Given the description of an element on the screen output the (x, y) to click on. 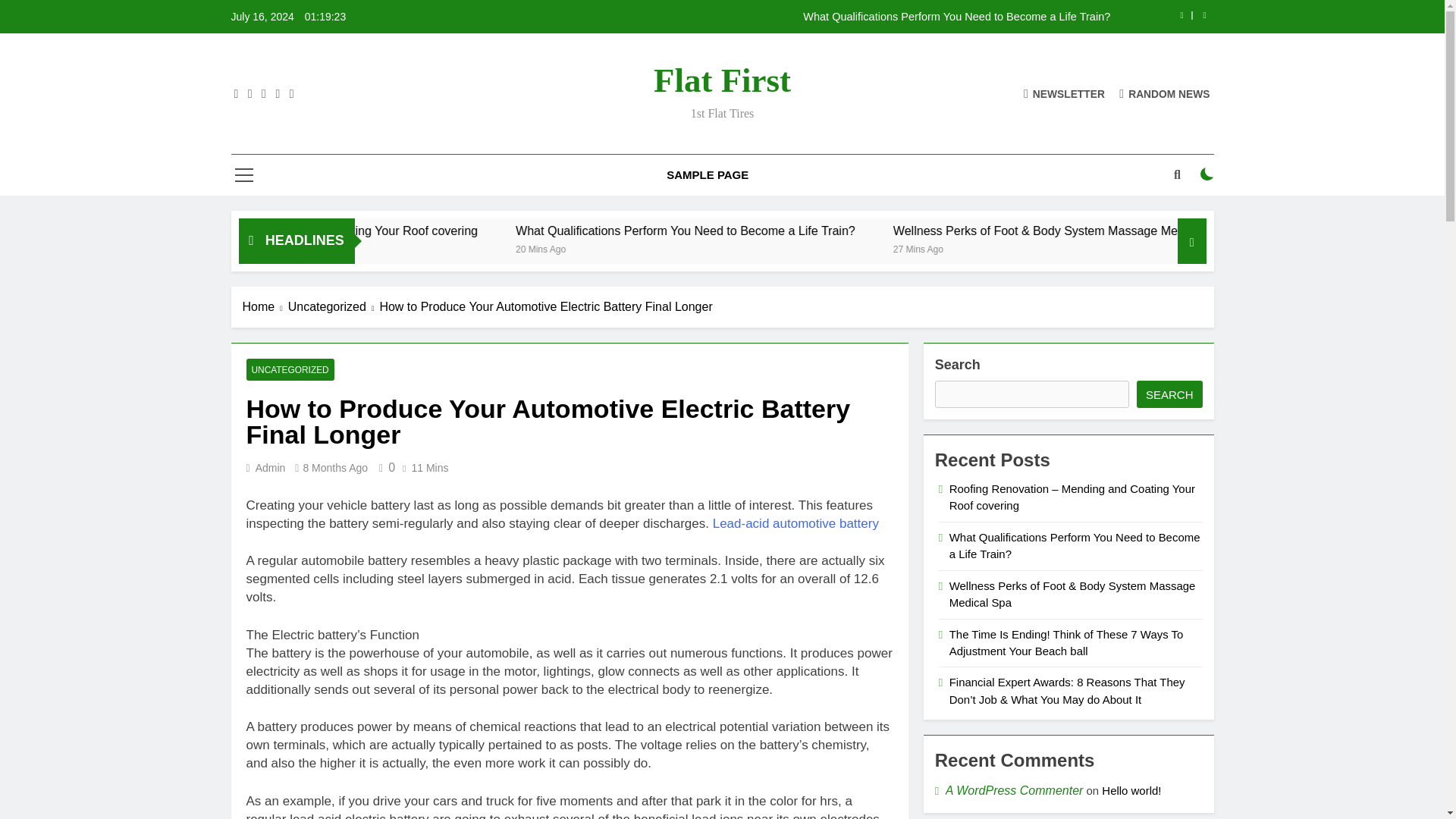
RANDOM NEWS (1164, 92)
What Qualifications Perform You Need to Become a Life Train? (841, 230)
What Qualifications Perform You Need to Become a Life Train? (881, 230)
20 Mins Ago (735, 247)
What Qualifications Perform You Need to Become a Life Train? (817, 16)
10 Mins Ago (358, 247)
SAMPLE PAGE (707, 174)
27 Mins Ago (1109, 247)
NEWSLETTER (1064, 92)
What Qualifications Perform You Need to Become a Life Train? (817, 16)
on (1206, 173)
Flat First (721, 80)
